Given the description of an element on the screen output the (x, y) to click on. 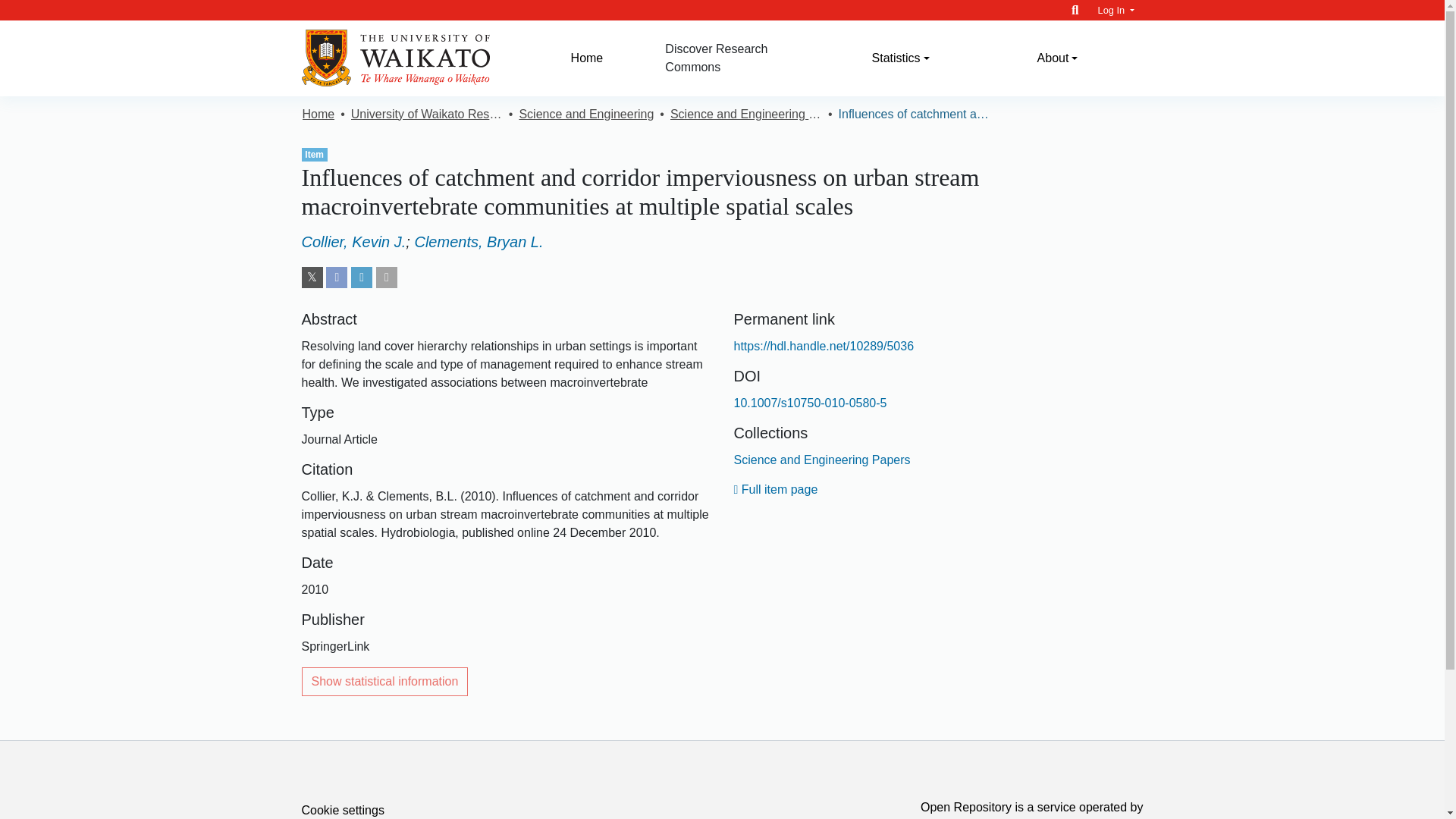
Full item page (775, 489)
About (1056, 58)
Cookie settings (342, 809)
Home (586, 58)
Search (1075, 10)
Log In (1115, 9)
Science and Engineering (585, 114)
Statistics (900, 58)
Home (317, 114)
Science and Engineering Papers (745, 114)
Science and Engineering Papers (822, 459)
Show statistical information (384, 681)
Home (586, 58)
Clements, Bryan L. (478, 241)
Collier, Kevin J. (353, 241)
